Given the description of an element on the screen output the (x, y) to click on. 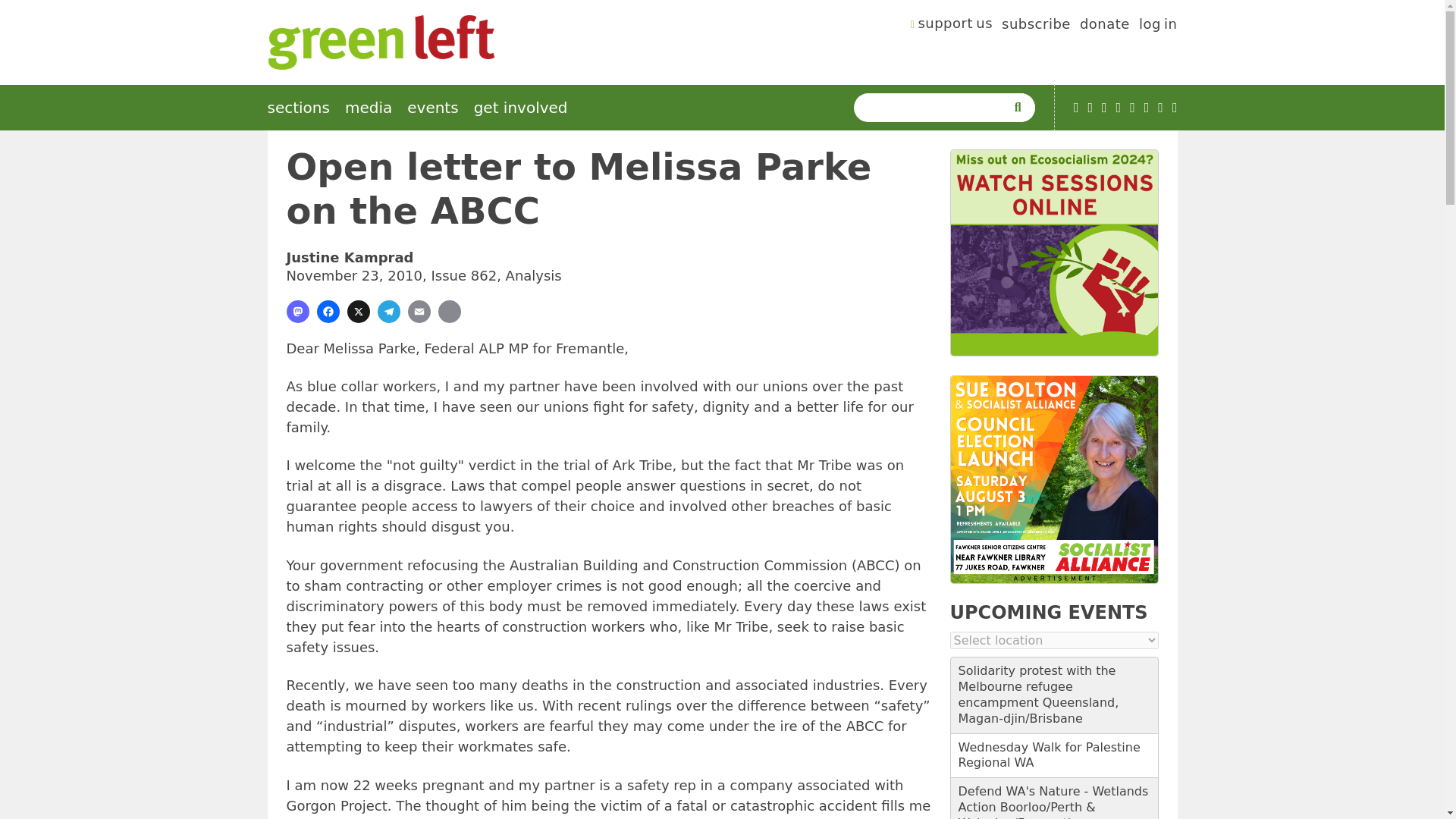
subscribe (1035, 26)
Podcast (1090, 107)
donate (1104, 26)
Facebook (1104, 107)
Share on Facebook (328, 311)
Share on X (358, 311)
Enter the terms you wish to search for. (932, 107)
log in (1157, 26)
Share on Mastondon (297, 311)
share via email (418, 311)
Share on Telegram (388, 311)
TikTok (1118, 107)
events (432, 107)
support us (951, 26)
Print (449, 311)
